Given the description of an element on the screen output the (x, y) to click on. 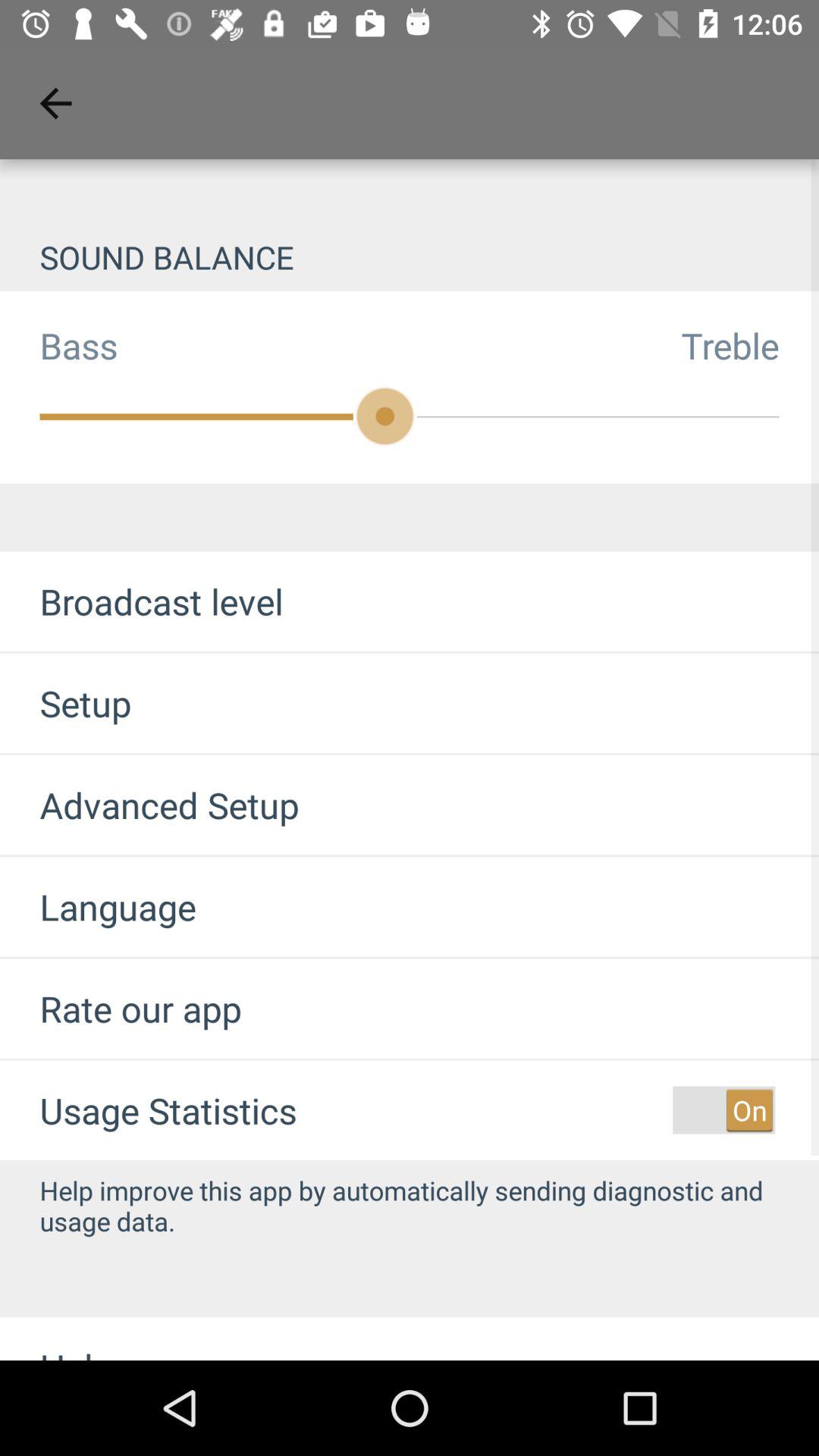
flip until the broadcast level (141, 601)
